Given the description of an element on the screen output the (x, y) to click on. 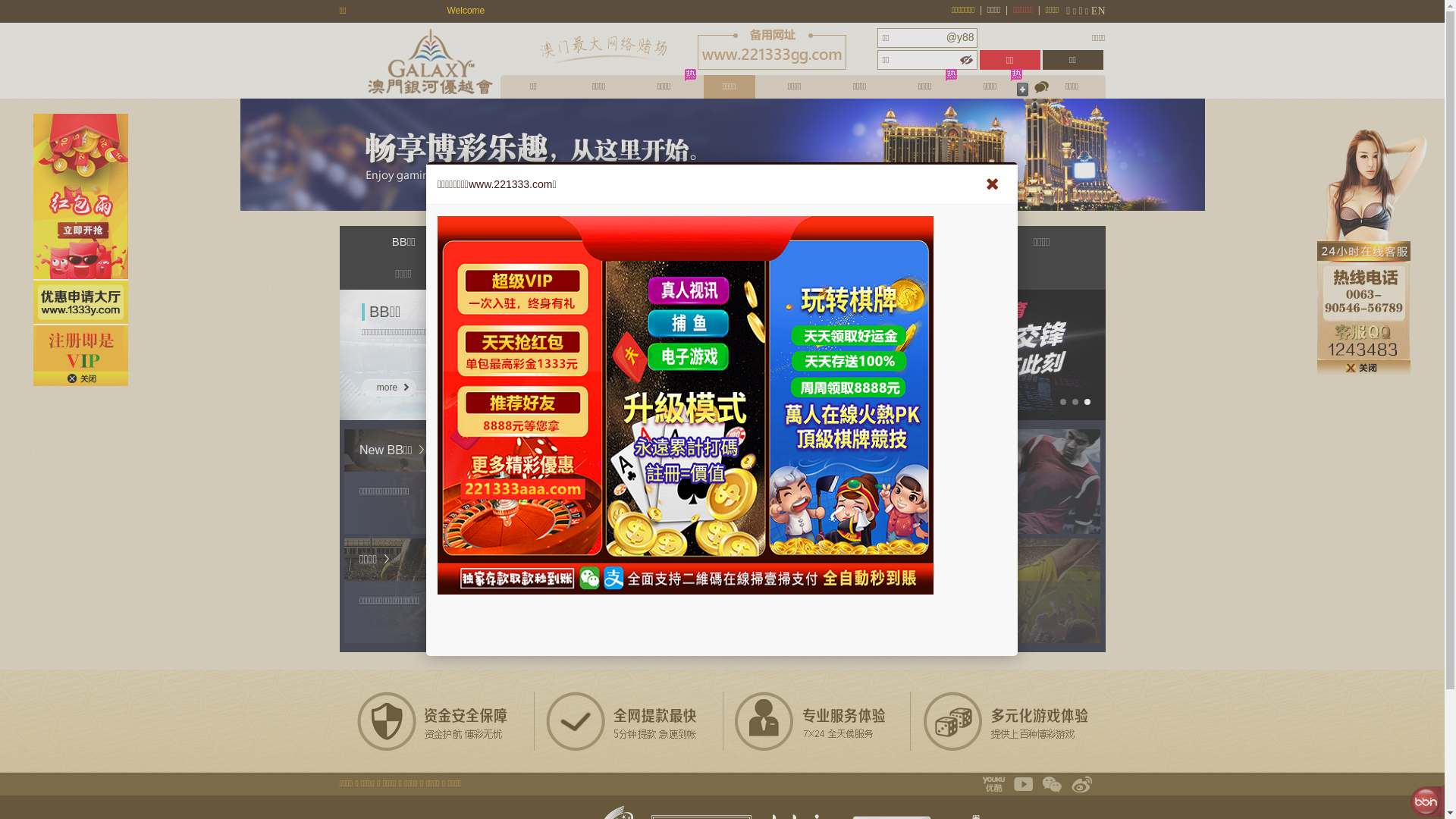
EN Element type: text (1098, 10)
